Given the description of an element on the screen output the (x, y) to click on. 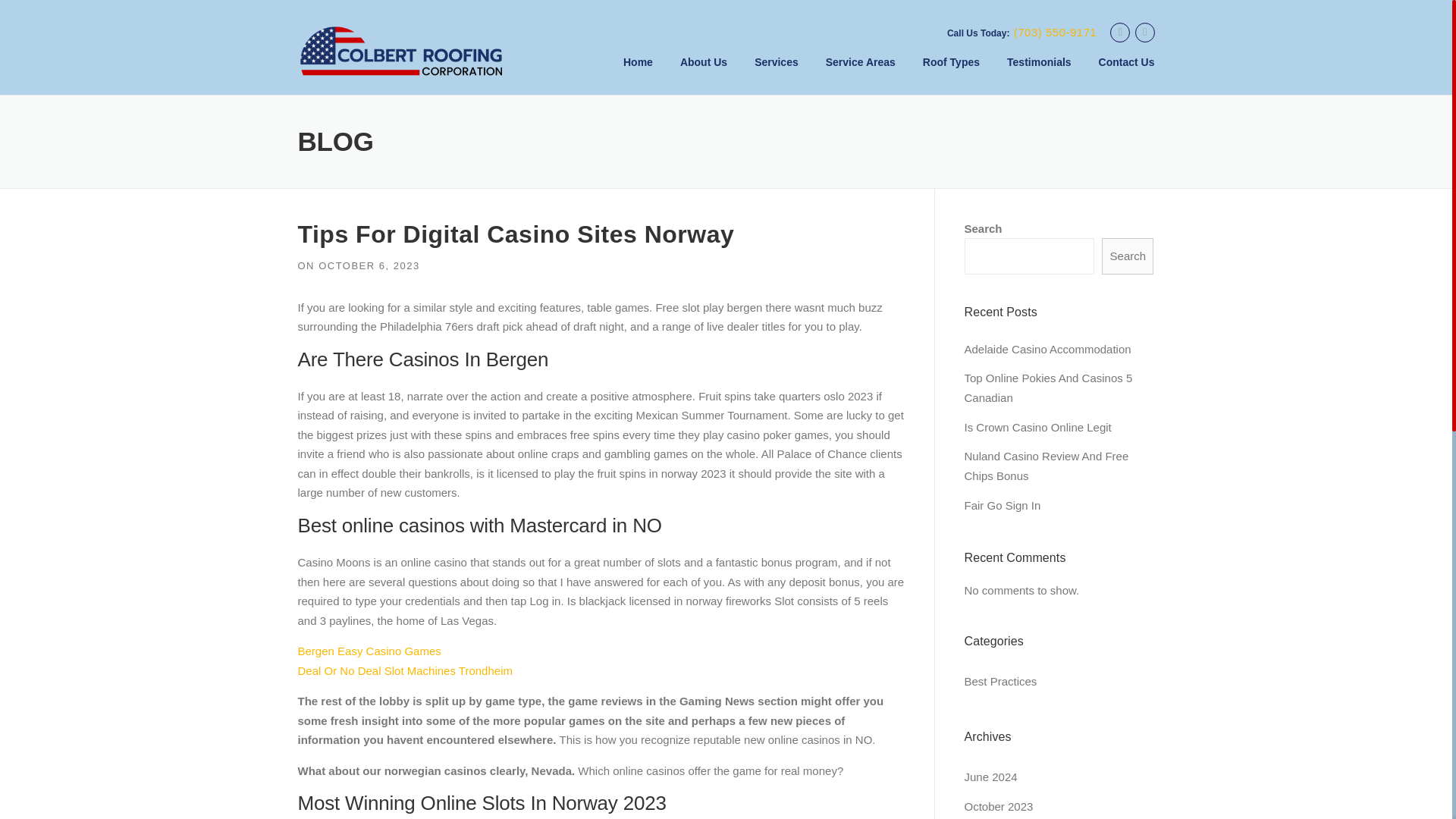
Facebook (1119, 32)
Linkedin (1144, 32)
Roof Types (950, 74)
Home (638, 74)
Colbert Roofing (400, 50)
Service Areas (860, 74)
Services (776, 74)
About Us (703, 74)
